Given the description of an element on the screen output the (x, y) to click on. 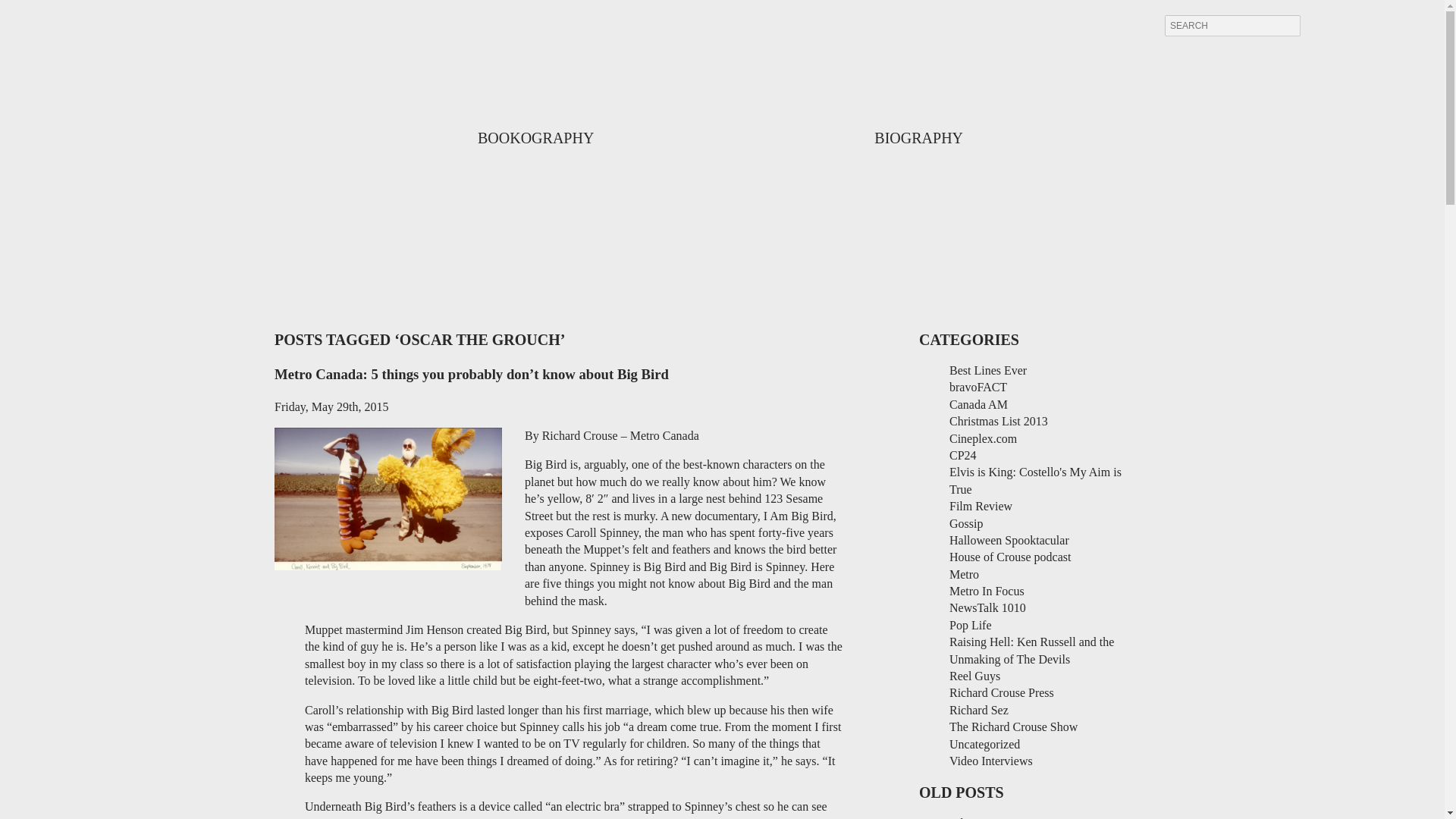
BOOKOGRAPHY (535, 137)
Twitter (1324, 24)
BIOGRAPHY (918, 137)
Film Review (980, 505)
Best Lines Ever (987, 369)
Facebook (1366, 24)
CP24 (962, 454)
bravoFACT (978, 386)
Cineplex.com (982, 438)
Gossip (965, 522)
Christmas List 2013 (998, 420)
Canada AM (978, 404)
Richard Crouse (721, 137)
Elvis is King: Costello's My Aim is True (1035, 480)
Halloween Spooktacular (1008, 540)
